Given the description of an element on the screen output the (x, y) to click on. 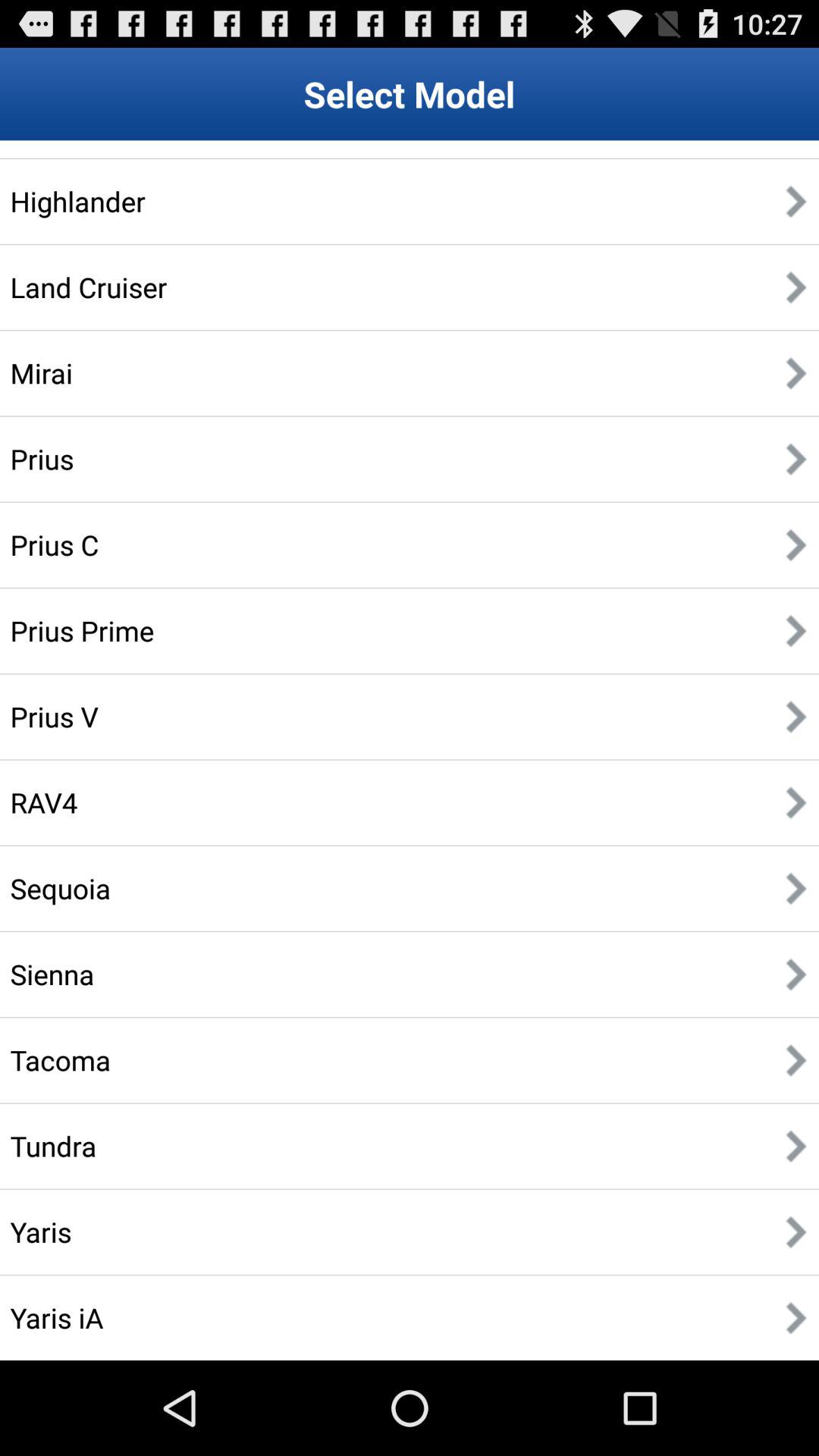
click icon below the land cruiser app (41, 372)
